Given the description of an element on the screen output the (x, y) to click on. 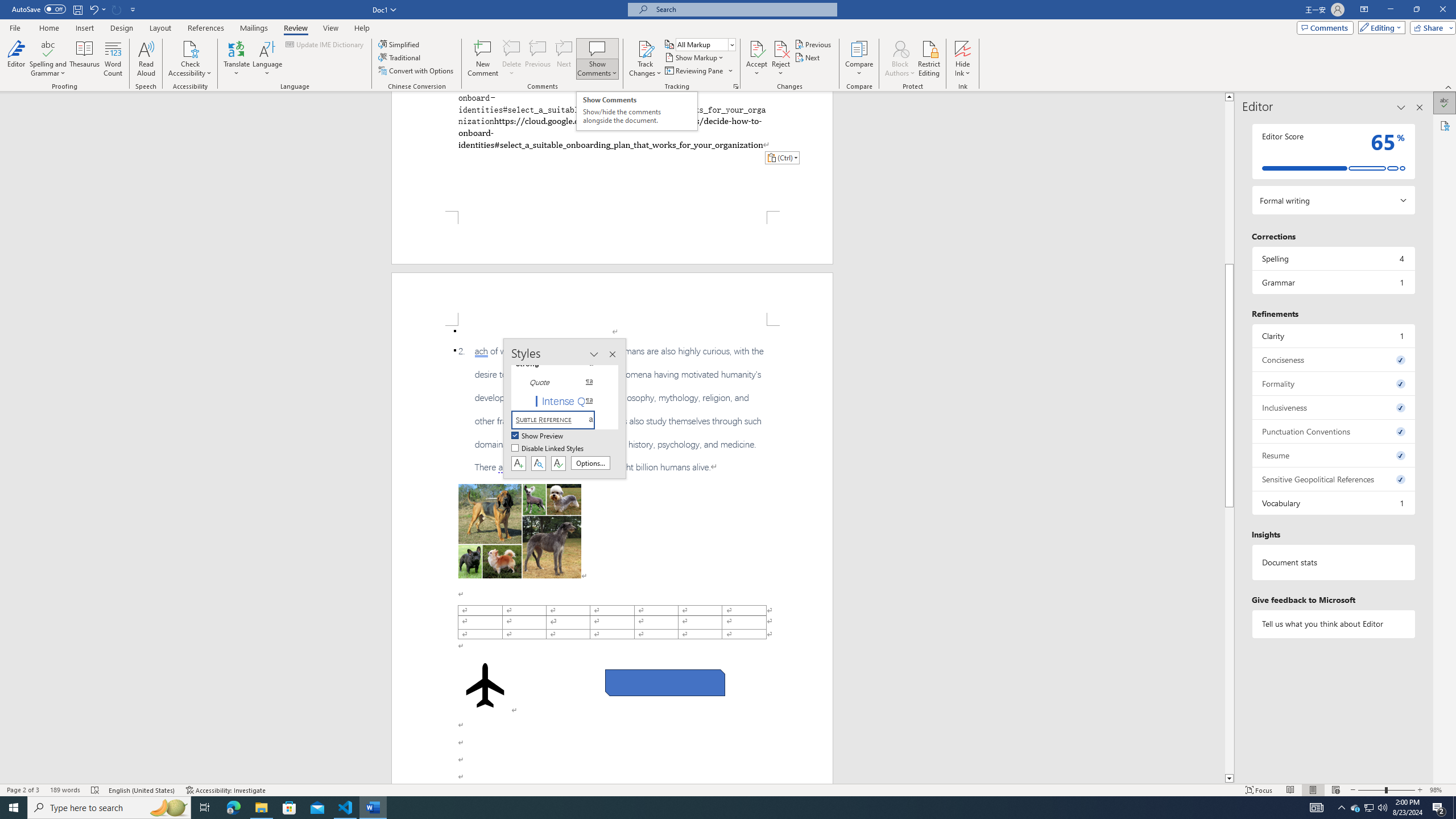
Convert with Options... (417, 69)
Traditional (400, 56)
Reviewing Pane (698, 69)
Grammar, 1 issue. Press space or enter to review items. (1333, 282)
